Given the description of an element on the screen output the (x, y) to click on. 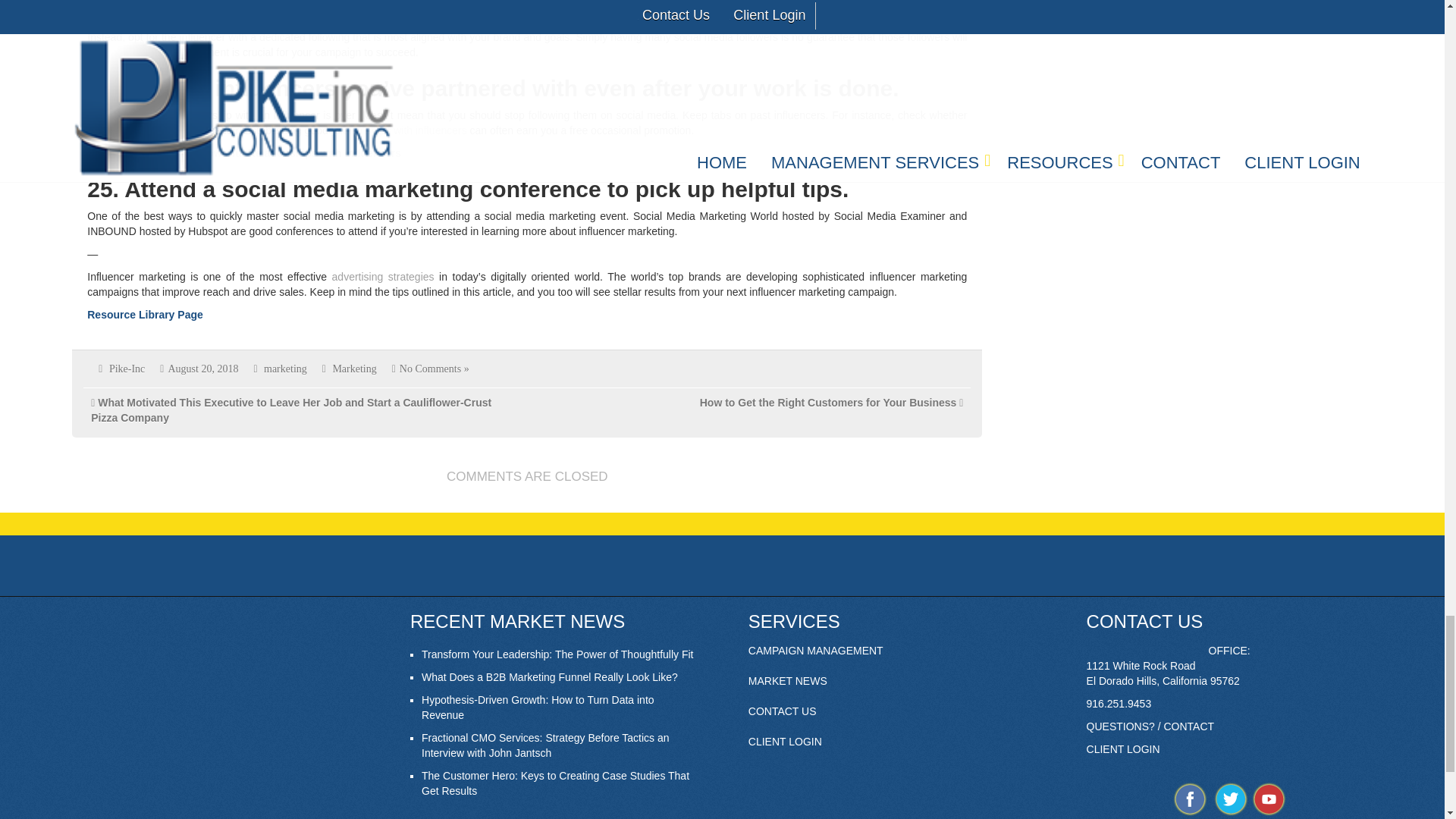
How to Build Powerful Relationships with Influencers (266, 152)
relationships with influencers (399, 130)
advertising strategies (382, 276)
Pike-Inc (126, 368)
Resource Library Page (145, 314)
How to Get the Right Customers for Your Business (828, 402)
Posts by Pike-Inc (126, 368)
Marketing (353, 368)
marketing (285, 368)
